Given the description of an element on the screen output the (x, y) to click on. 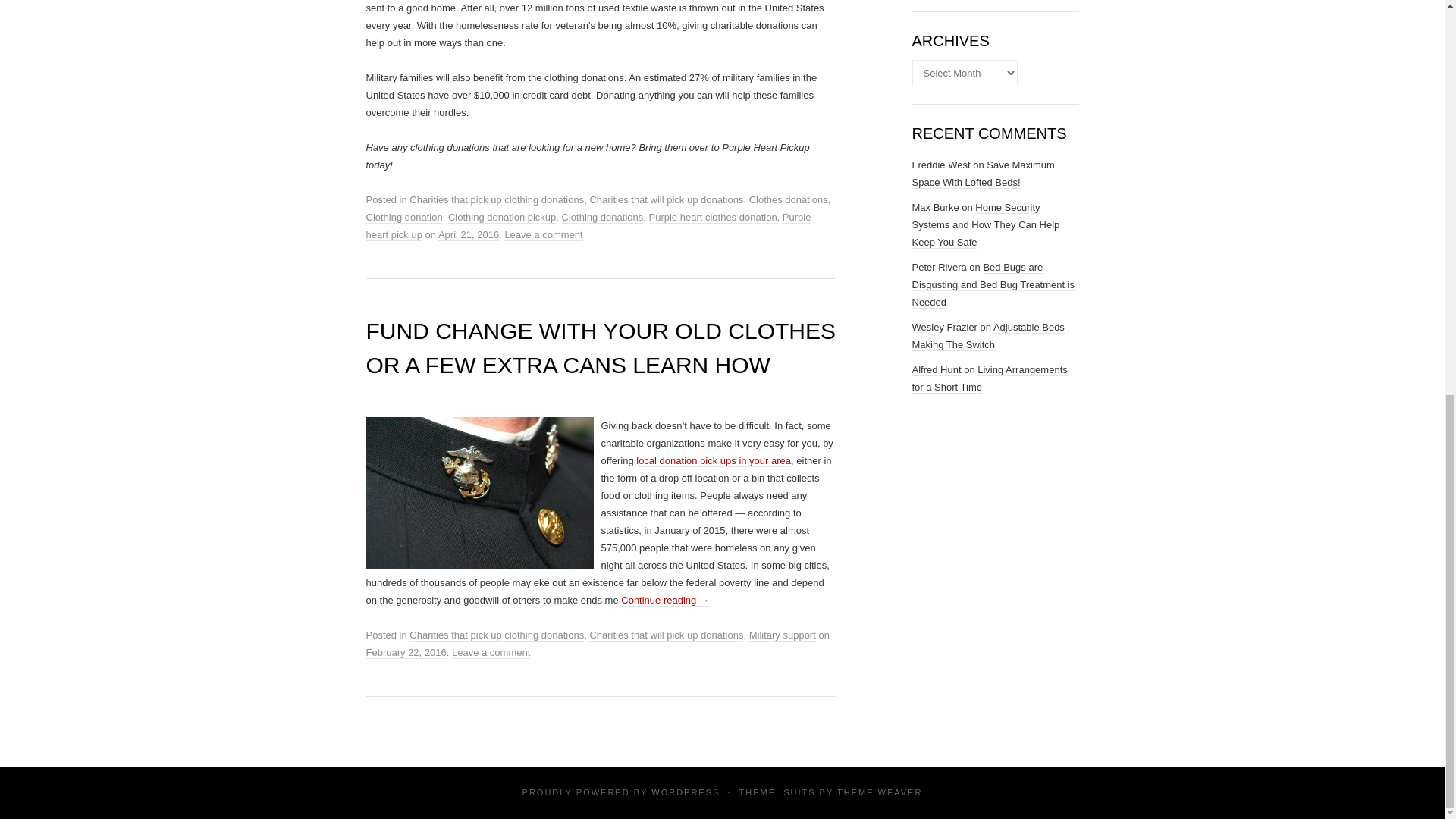
Home Security Systems and How They Can Help Keep You Safe (985, 224)
Charities that pick up clothing donations (496, 635)
Clothes donations (788, 200)
Clothing donation pickup (502, 217)
Purple heart pick up (587, 225)
Military support (782, 635)
9:05 pm (468, 234)
Title (713, 460)
Semantic Personal Publishing Platform (684, 791)
Charities that will pick up donations (665, 200)
Charities that pick up clothing donations (496, 200)
7:00 pm (405, 653)
Leave a comment (542, 234)
Clothing donations (602, 217)
